Given the description of an element on the screen output the (x, y) to click on. 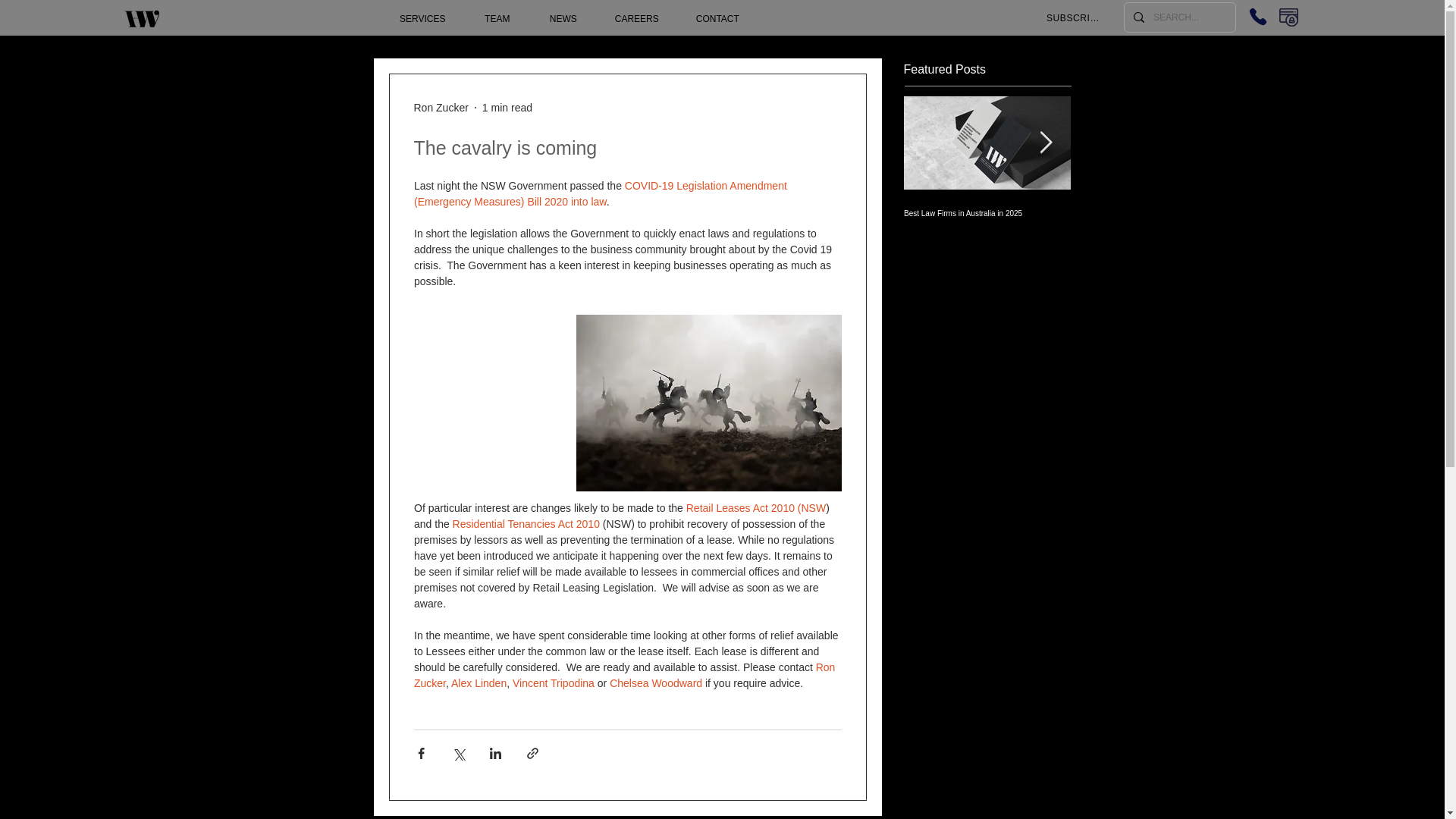
CAREERS (636, 18)
 Chelsea Woodward  (655, 683)
Best Lawyers In Australia In 2025 (1153, 213)
Alex Linden (478, 683)
Residential Tenancies Act 2010 (524, 523)
Ron Zucker (440, 107)
Vincent Tripodina (553, 683)
Ron Zucker (625, 674)
Payment icon.png (1288, 17)
NEWS (562, 18)
